Given the description of an element on the screen output the (x, y) to click on. 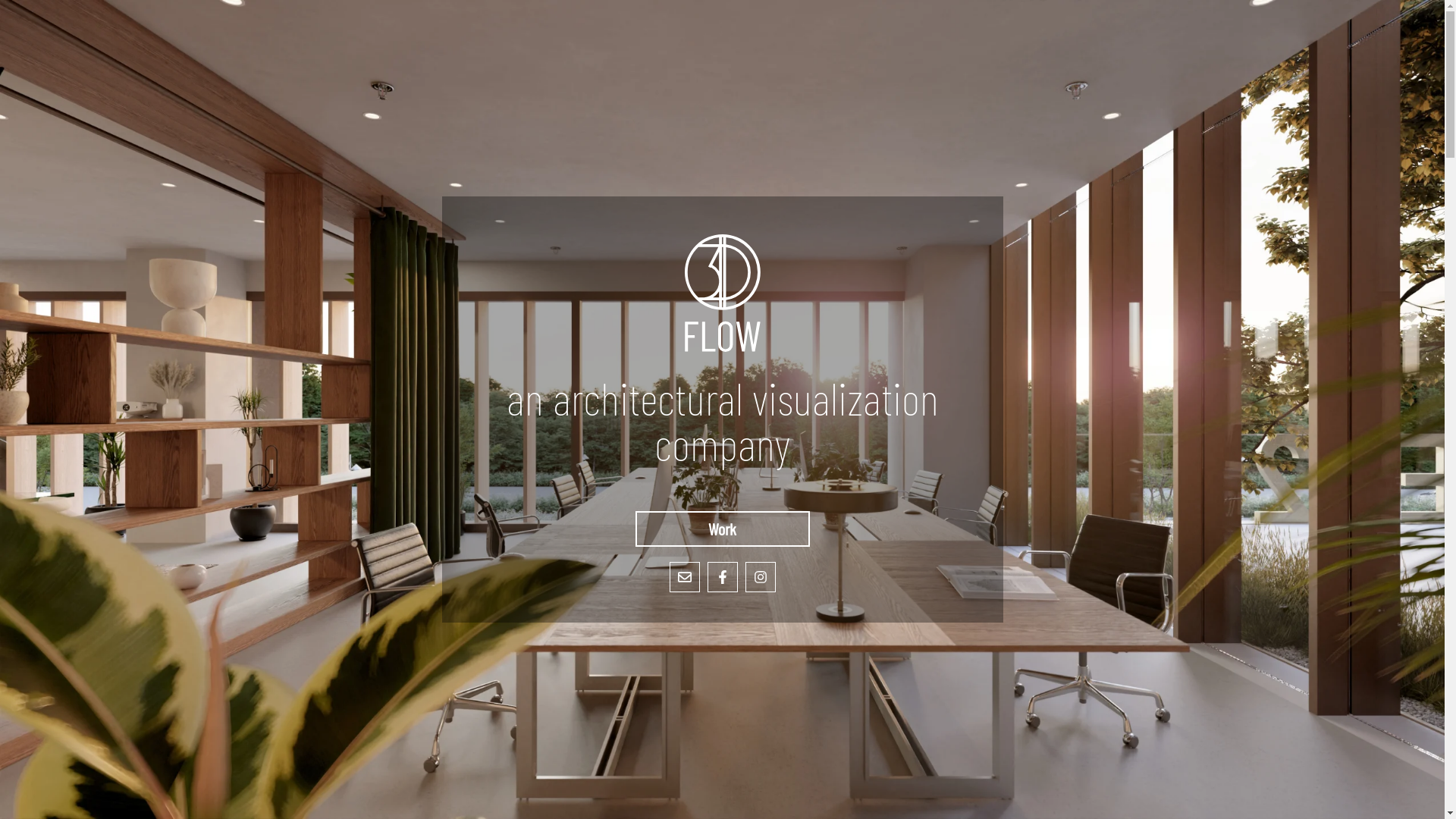
Work Element type: text (722, 528)
